Given the description of an element on the screen output the (x, y) to click on. 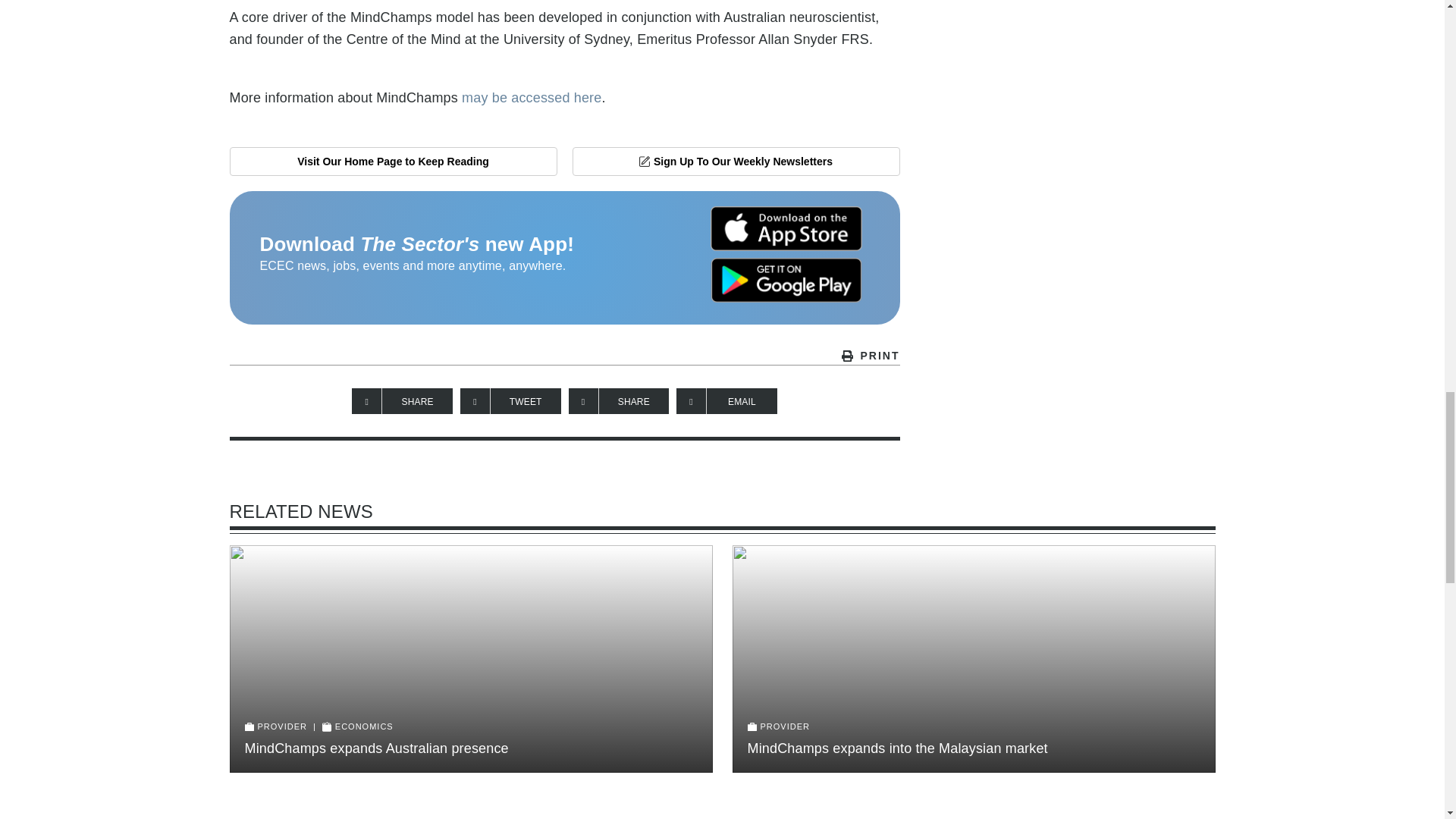
Share on LinkedIn (619, 401)
Share on Email (727, 401)
Share on Facebook (402, 401)
Tweet (510, 401)
